Given the description of an element on the screen output the (x, y) to click on. 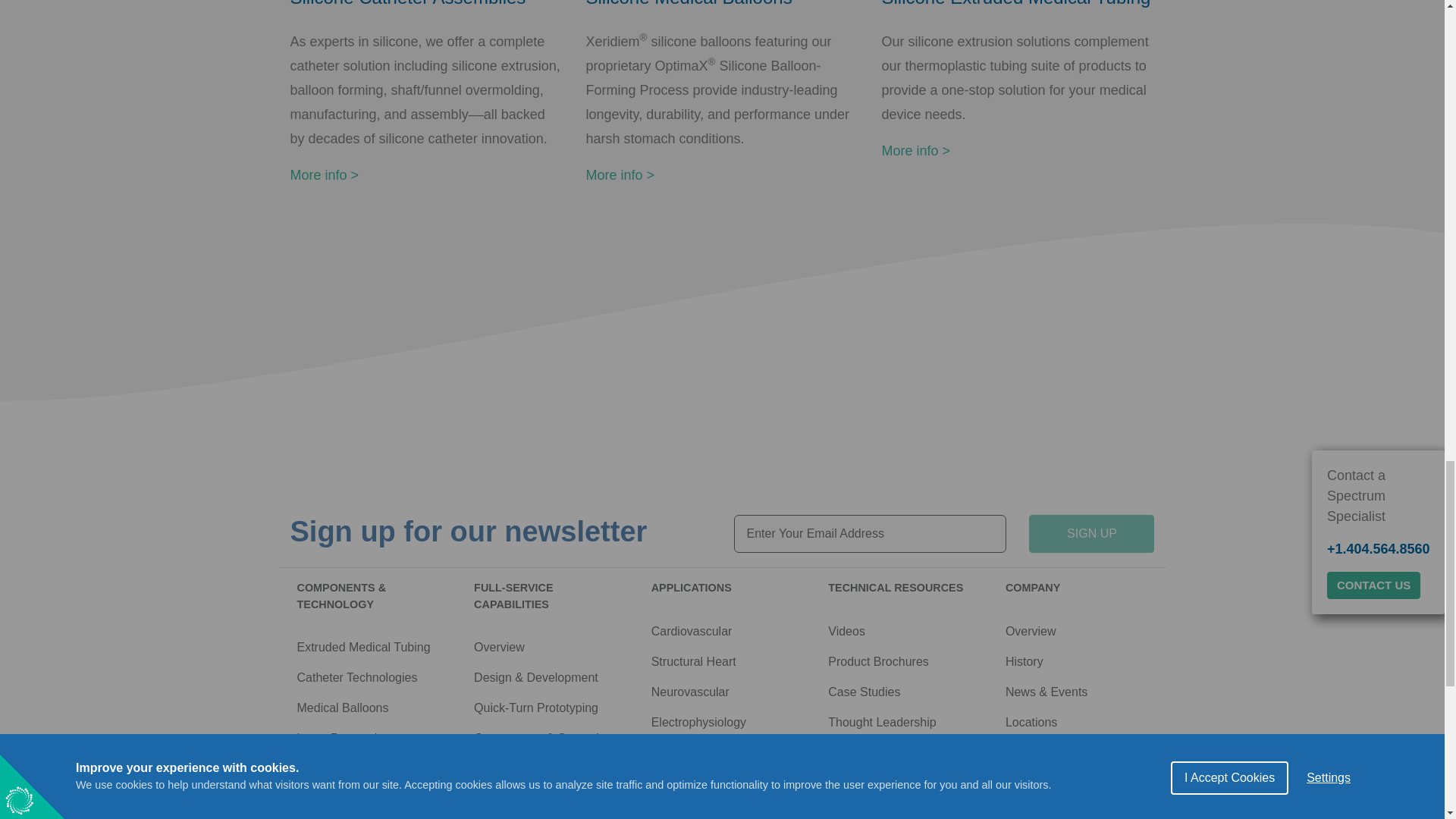
Submit Newsletter Signup (1091, 533)
